Given the description of an element on the screen output the (x, y) to click on. 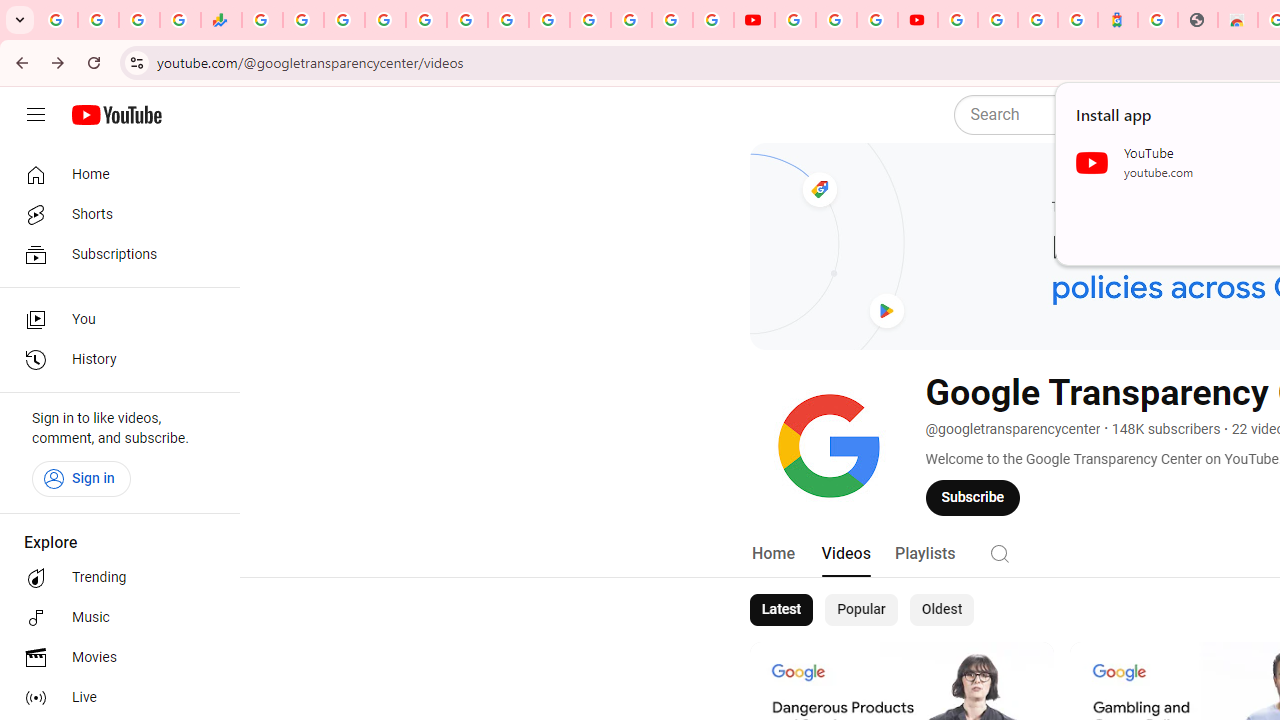
YouTube (548, 20)
Playlists (924, 553)
Guide (35, 115)
Movies (113, 657)
Sign in - Google Accounts (671, 20)
Home (113, 174)
History (113, 359)
Create your Google Account (877, 20)
Home (772, 553)
Popular (861, 609)
